Given the description of an element on the screen output the (x, y) to click on. 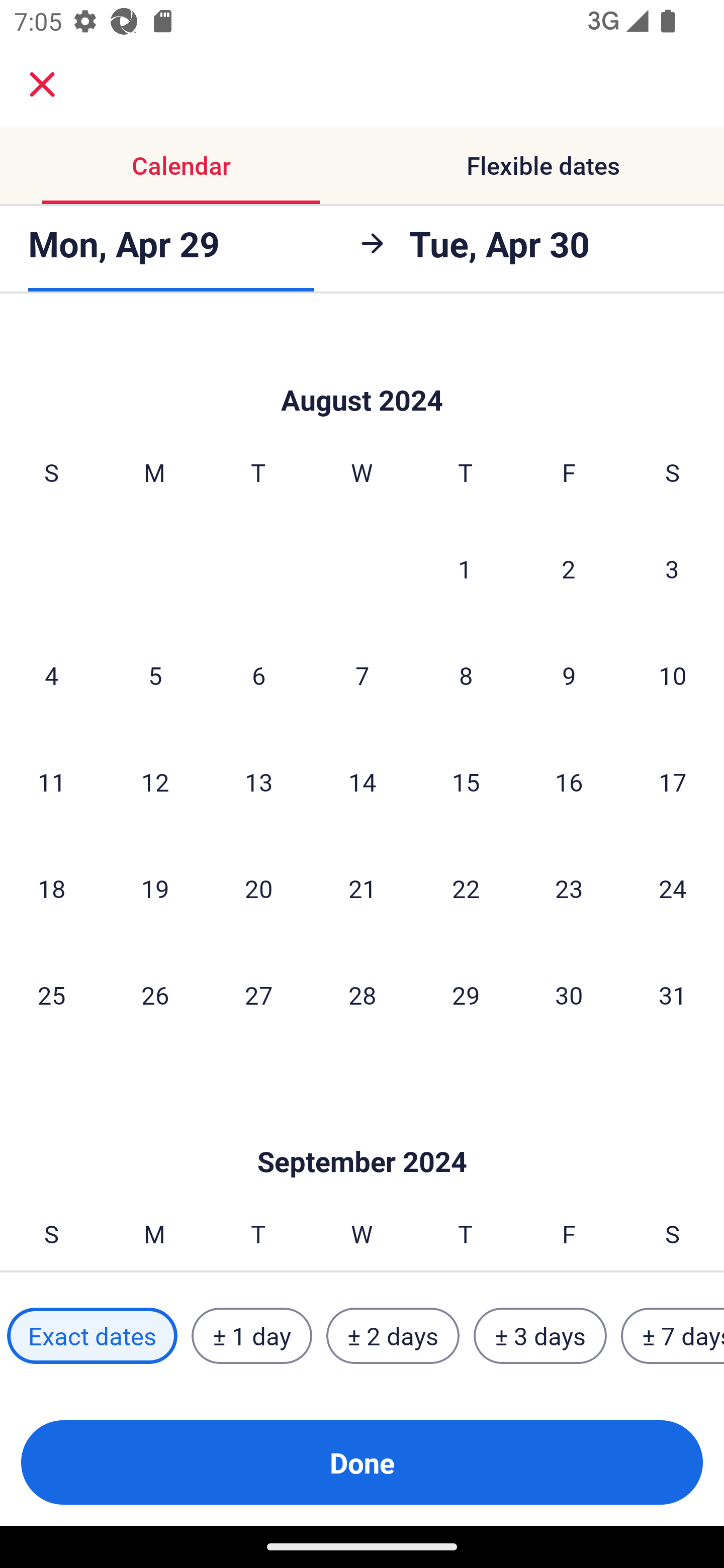
close. (42, 84)
Flexible dates (542, 164)
Skip to Done (362, 369)
1 Thursday, August 1, 2024 (464, 568)
2 Friday, August 2, 2024 (568, 568)
3 Saturday, August 3, 2024 (672, 568)
4 Sunday, August 4, 2024 (51, 674)
5 Monday, August 5, 2024 (155, 674)
6 Tuesday, August 6, 2024 (258, 674)
7 Wednesday, August 7, 2024 (362, 674)
8 Thursday, August 8, 2024 (465, 674)
9 Friday, August 9, 2024 (569, 674)
10 Saturday, August 10, 2024 (672, 674)
11 Sunday, August 11, 2024 (51, 781)
12 Monday, August 12, 2024 (155, 781)
13 Tuesday, August 13, 2024 (258, 781)
14 Wednesday, August 14, 2024 (362, 781)
15 Thursday, August 15, 2024 (465, 781)
16 Friday, August 16, 2024 (569, 781)
17 Saturday, August 17, 2024 (672, 781)
18 Sunday, August 18, 2024 (51, 888)
19 Monday, August 19, 2024 (155, 888)
20 Tuesday, August 20, 2024 (258, 888)
21 Wednesday, August 21, 2024 (362, 888)
22 Thursday, August 22, 2024 (465, 888)
23 Friday, August 23, 2024 (569, 888)
24 Saturday, August 24, 2024 (672, 888)
25 Sunday, August 25, 2024 (51, 994)
26 Monday, August 26, 2024 (155, 994)
27 Tuesday, August 27, 2024 (258, 994)
28 Wednesday, August 28, 2024 (362, 994)
29 Thursday, August 29, 2024 (465, 994)
30 Friday, August 30, 2024 (569, 994)
31 Saturday, August 31, 2024 (672, 994)
Skip to Done (362, 1131)
Exact dates (92, 1335)
± 1 day (251, 1335)
± 2 days (392, 1335)
± 3 days (539, 1335)
± 7 days (672, 1335)
Done (361, 1462)
